Given the description of an element on the screen output the (x, y) to click on. 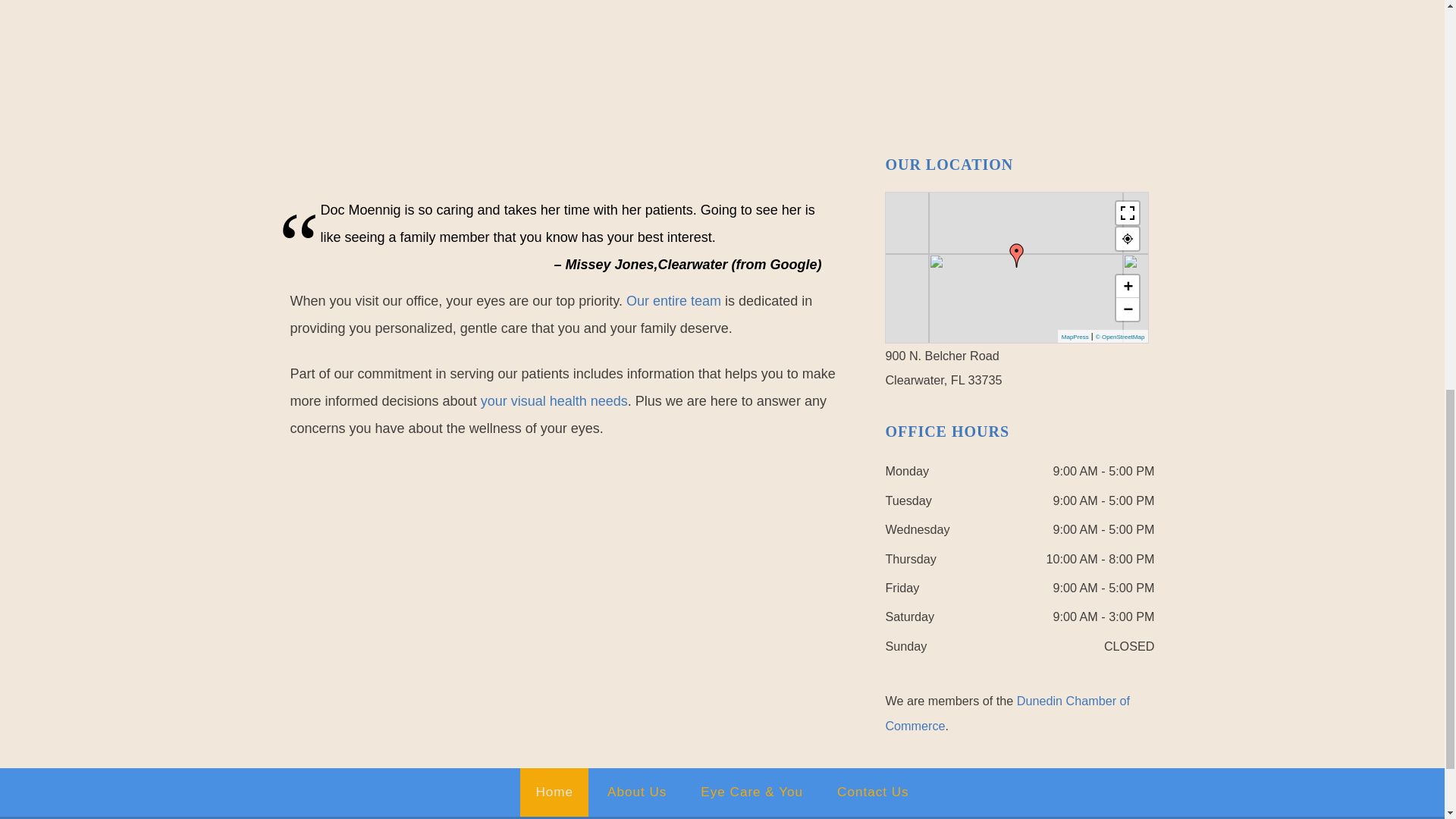
Toggle fullscreen view (1127, 212)
your visual health needs (553, 400)
Our entire team (673, 300)
MapPress (1075, 336)
Dunedin Chamber of Commerce (1007, 712)
Your Location (1127, 238)
Home (553, 792)
About Us (636, 792)
Contact Us (873, 792)
